Given the description of an element on the screen output the (x, y) to click on. 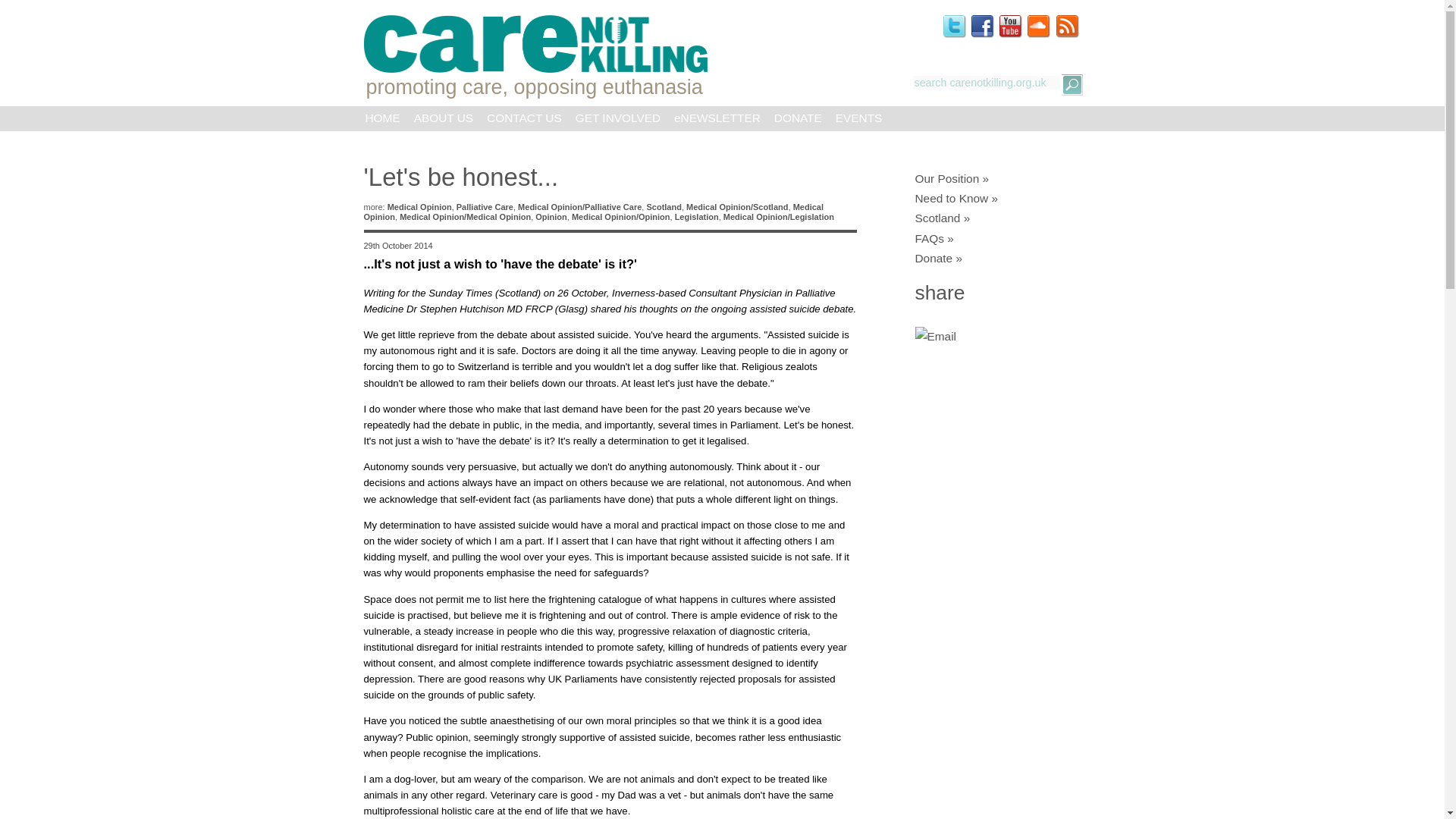
GET INVOLVED (617, 114)
DONATE (797, 114)
Scotland (663, 206)
search carenotkilling.org.uk (985, 82)
Care Not Killing - promoting care, opposing euthanasia (532, 43)
eNEWSLETTER (716, 114)
EVENTS (858, 114)
Opinion (551, 216)
CONTACT US (524, 114)
Medical Opinion (419, 206)
